Given the description of an element on the screen output the (x, y) to click on. 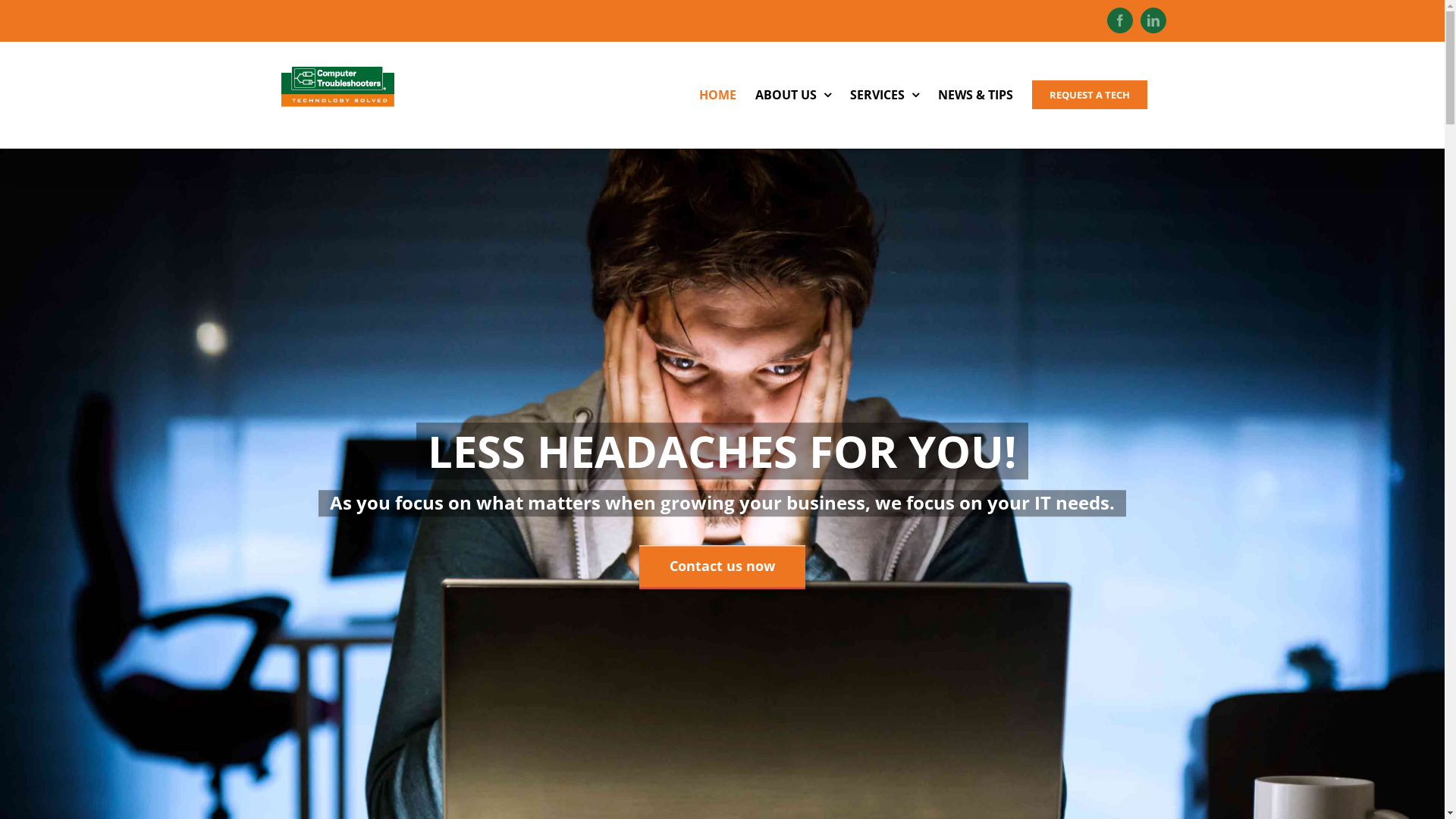
Contact us now Element type: text (722, 565)
ABOUT US Element type: text (793, 94)
SERVICES Element type: text (883, 94)
REQUEST A TECH Element type: text (1088, 94)
HOME Element type: text (717, 94)
LinkedIn Element type: text (1153, 20)
NEWS & TIPS Element type: text (974, 94)
Facebook Element type: text (1119, 20)
